Given the description of an element on the screen output the (x, y) to click on. 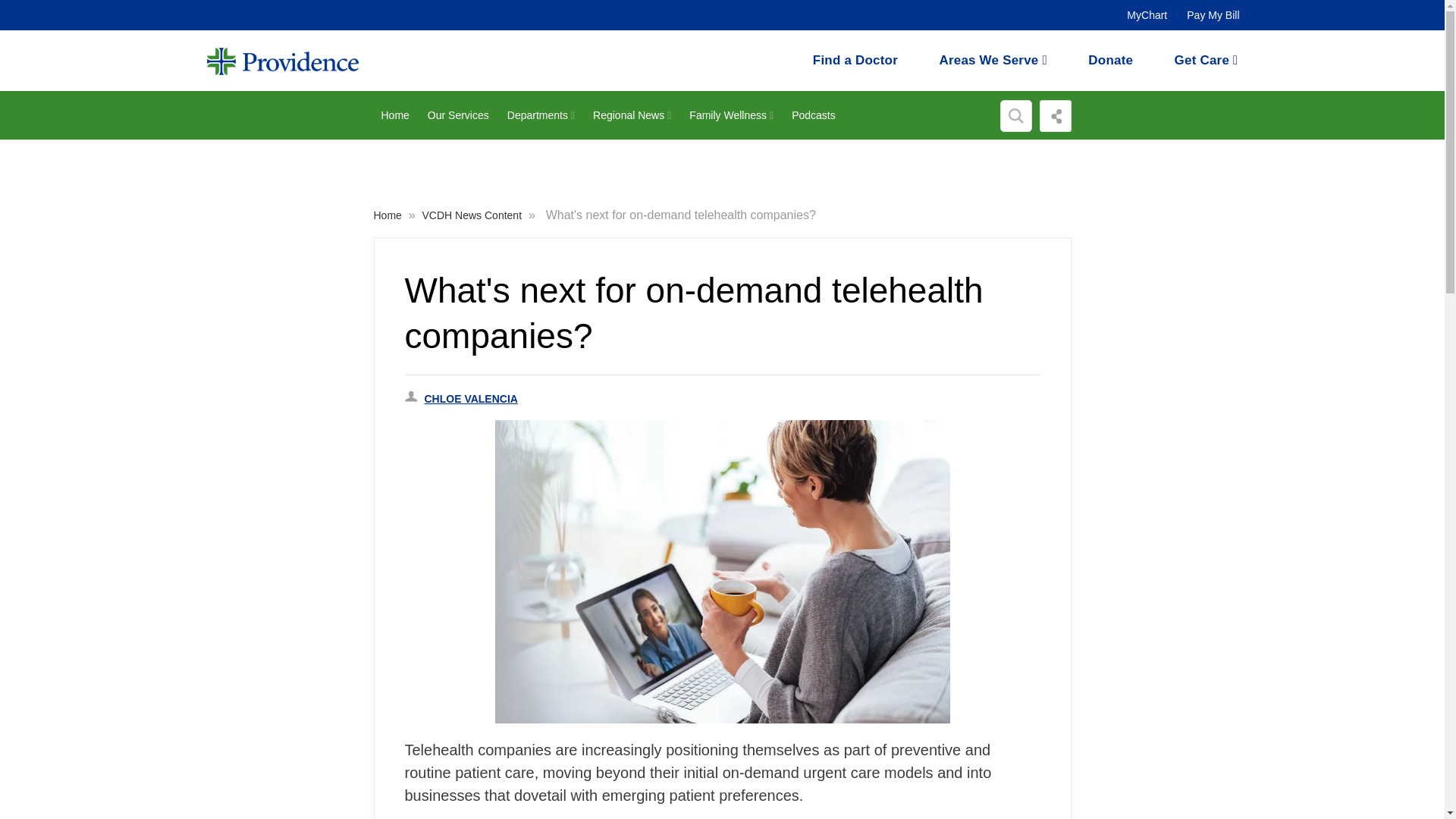
Find a Doctor (1109, 60)
Get Care (1206, 60)
Pay My Bill (1212, 15)
Our Services (458, 115)
Find a Doctor (855, 60)
Donate (1109, 60)
MyChart (1146, 15)
Home (394, 115)
Areas We Serve (992, 60)
Departments (541, 115)
